Given the description of an element on the screen output the (x, y) to click on. 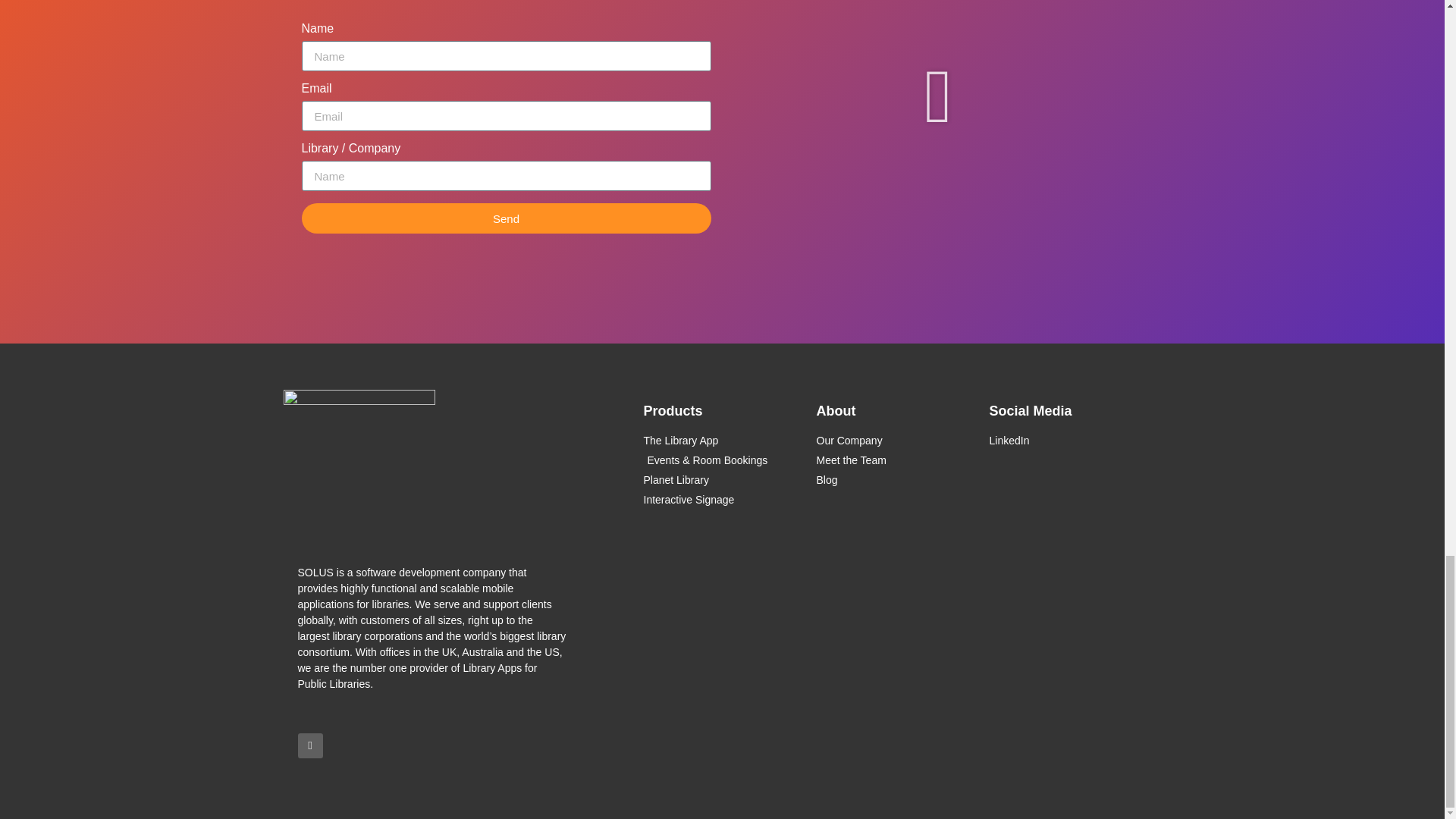
Send (506, 218)
